Given the description of an element on the screen output the (x, y) to click on. 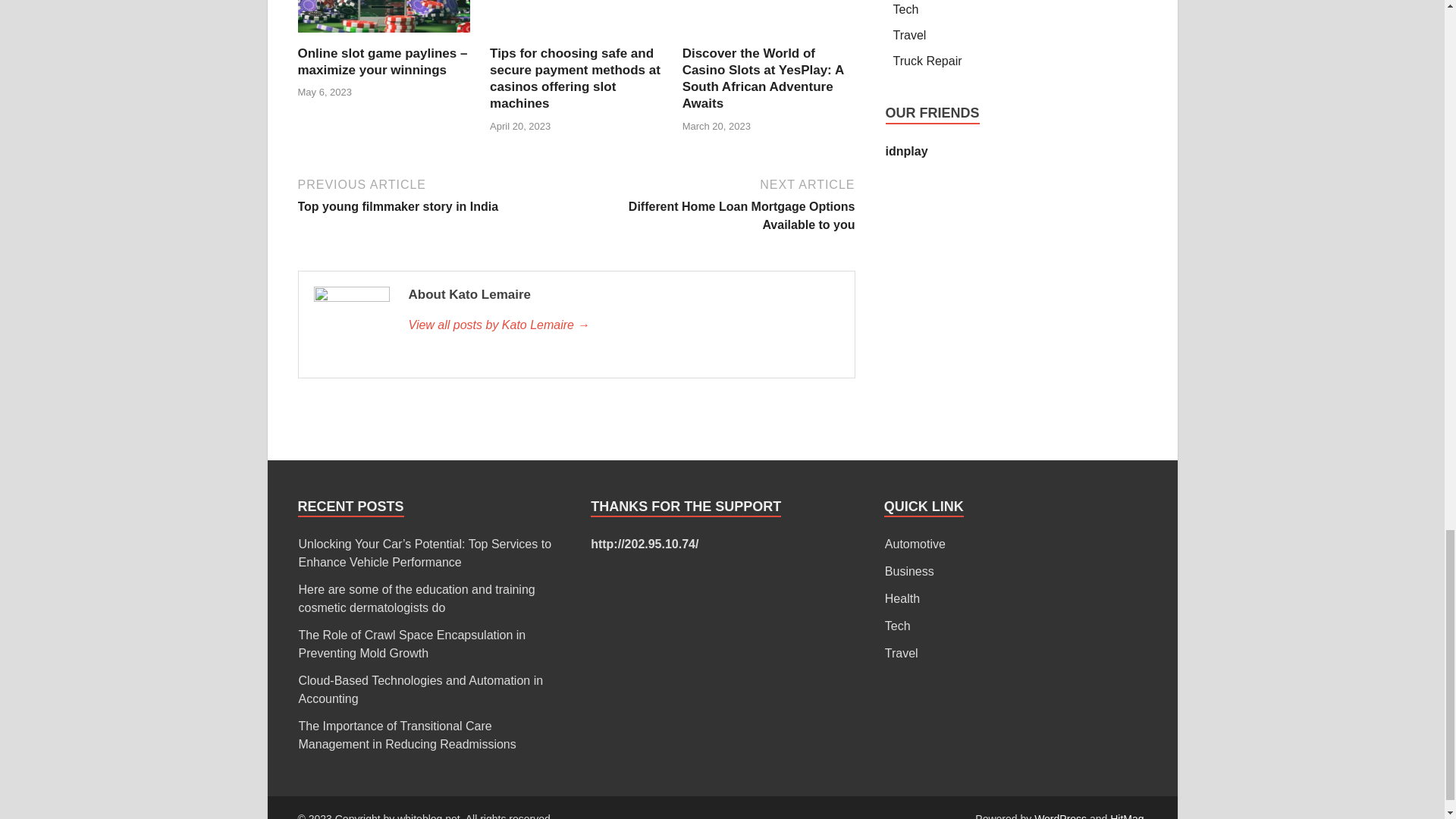
Kato Lemaire (622, 325)
